Given the description of an element on the screen output the (x, y) to click on. 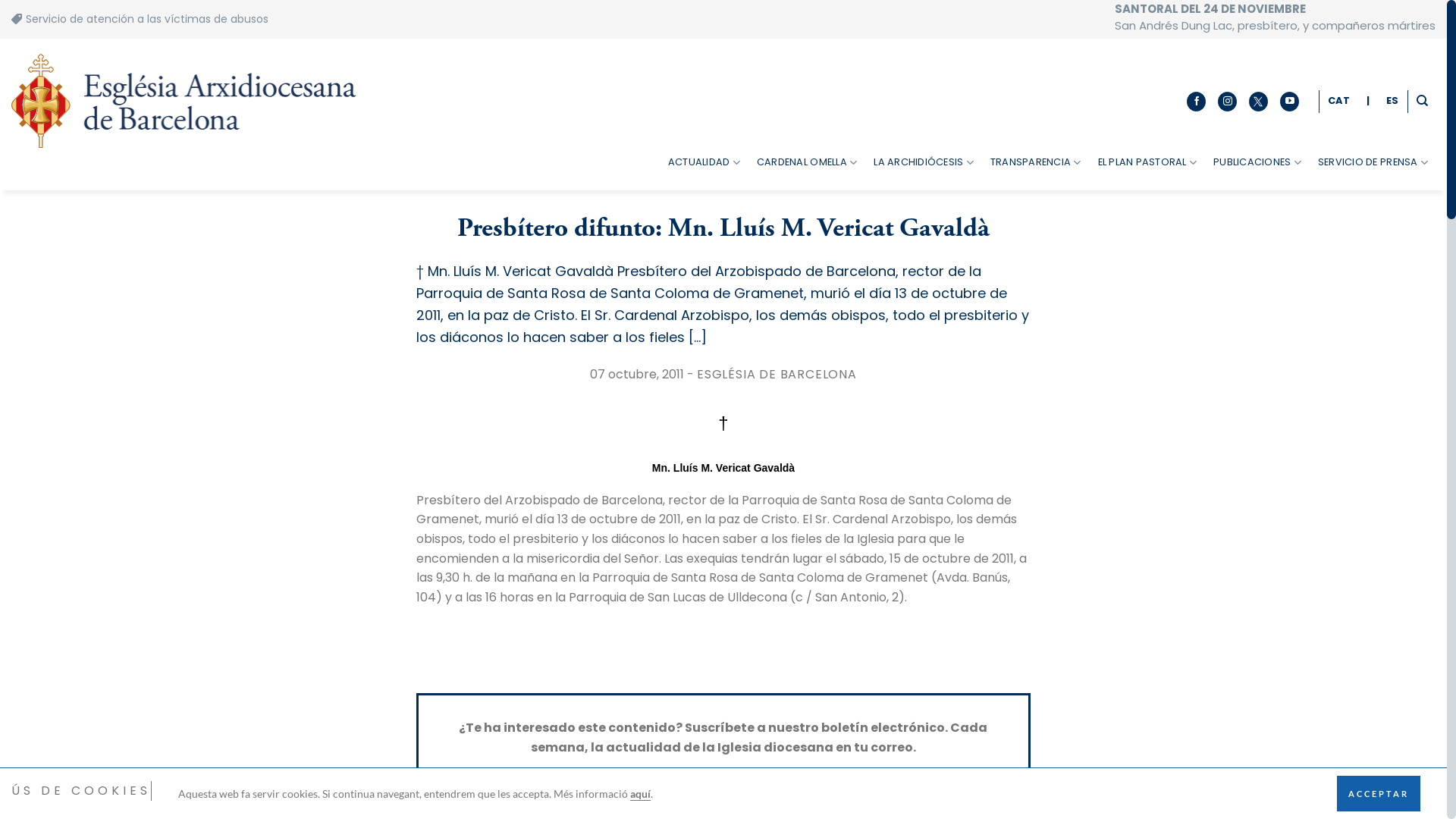
ACTUALIDAD Element type: text (704, 162)
PUBLICACIONES Element type: text (1257, 162)
ACCEPTAR Element type: text (1378, 793)
CAT Element type: text (1338, 100)
CARDENAL OMELLA Element type: text (806, 162)
SERVICIO DE PRENSA Element type: text (1372, 162)
ES Element type: text (1392, 100)
| Element type: text (1367, 100)
EL PLAN PASTORAL Element type: text (1147, 162)
TRANSPARENCIA Element type: text (1035, 162)
